Given the description of an element on the screen output the (x, y) to click on. 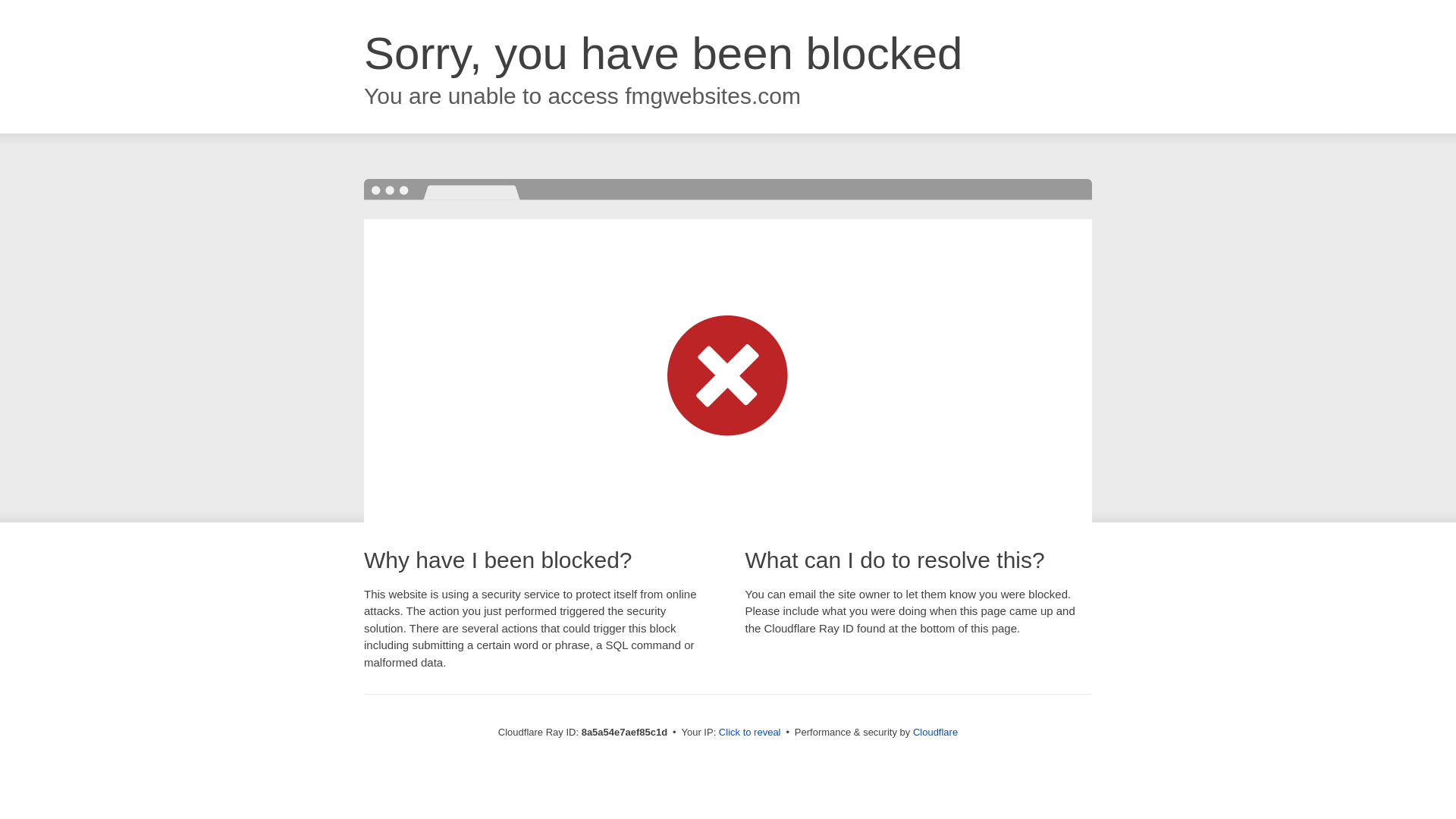
Cloudflare (935, 731)
Click to reveal (749, 732)
